Given the description of an element on the screen output the (x, y) to click on. 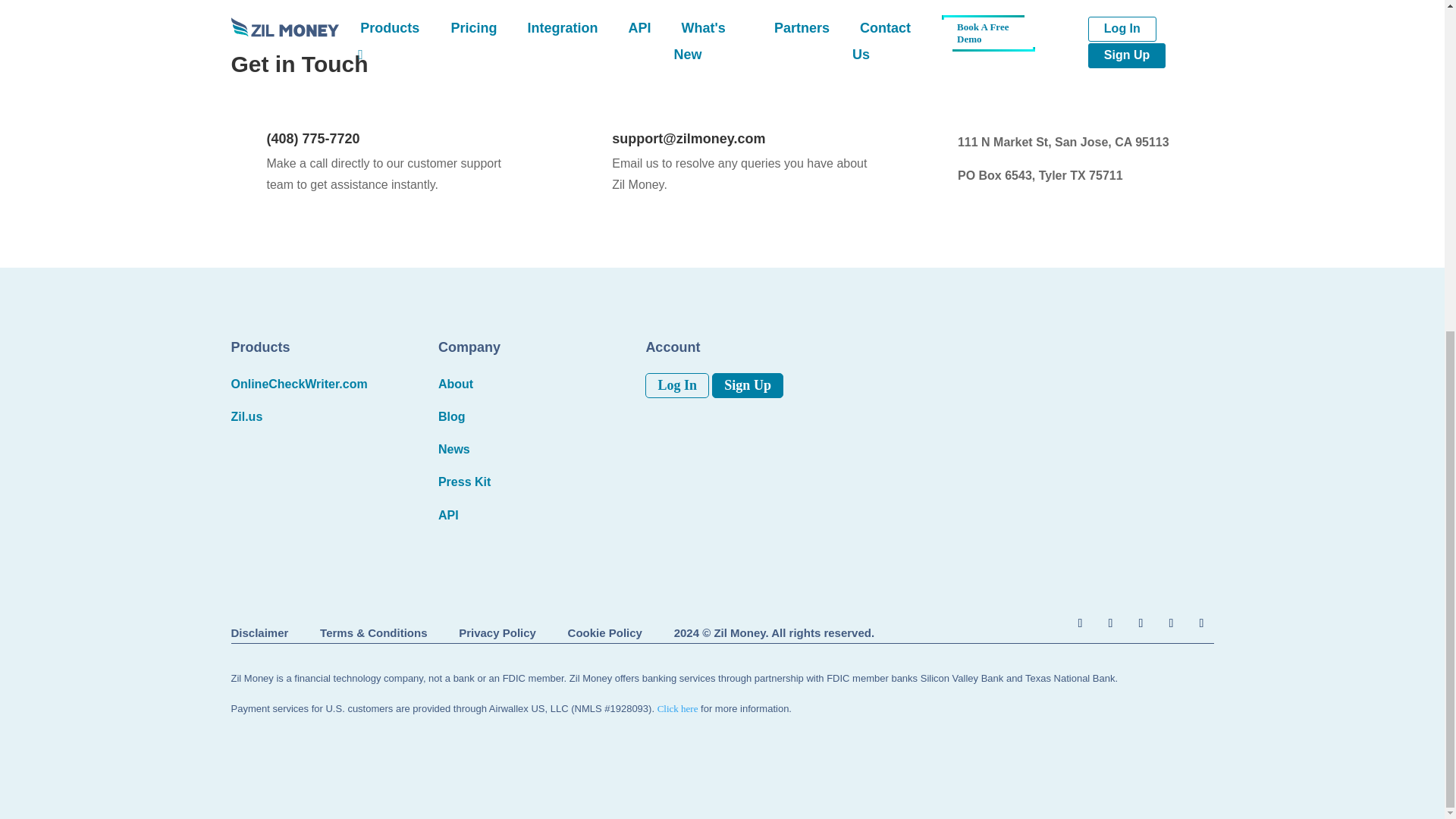
Follow on Instagram (1140, 622)
Sign Up (747, 385)
News (454, 449)
Follow on Facebook (1079, 622)
API (448, 513)
Blog (451, 416)
Press Kit (464, 481)
About (455, 383)
Log In (677, 385)
OnlineCheckWriter.com (298, 383)
Follow on X (1109, 622)
Zil.us (246, 416)
